Given the description of an element on the screen output the (x, y) to click on. 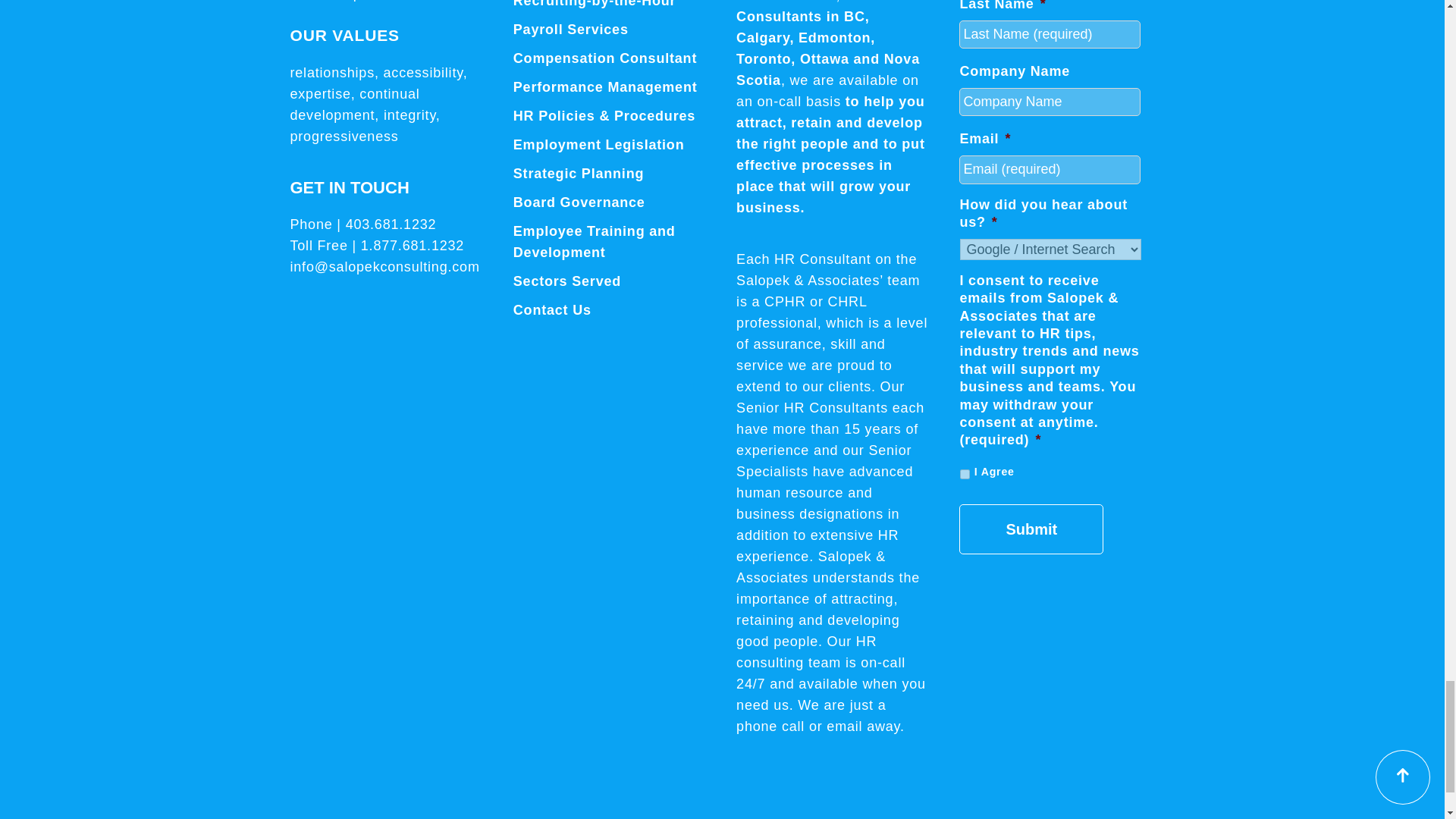
Submit (1031, 529)
I Agree (964, 474)
